Given the description of an element on the screen output the (x, y) to click on. 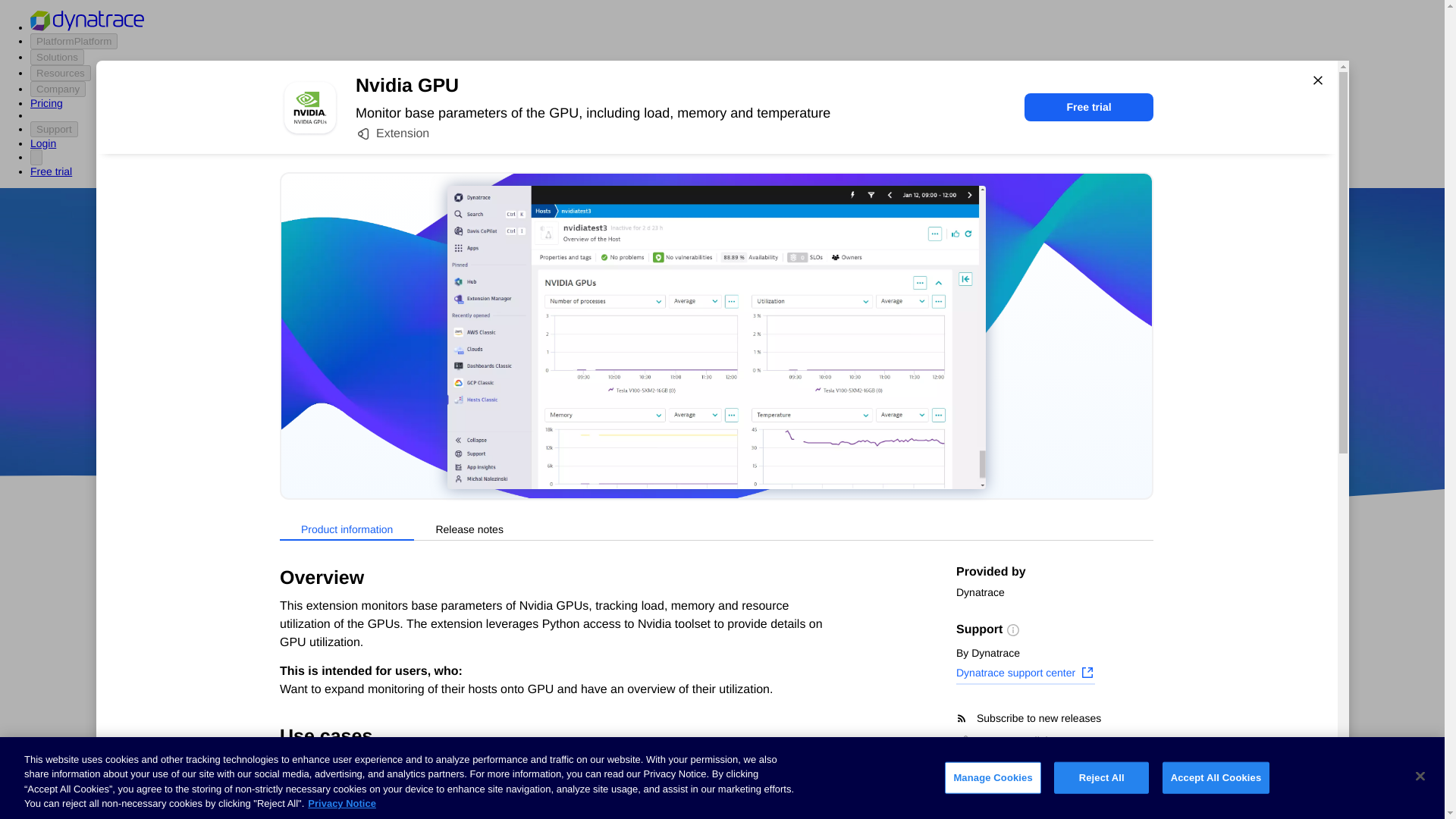
Copy page link (1003, 740)
Wipro (840, 375)
Hub home (291, 583)
Dynatrace support center (1025, 674)
Kubernetes (295, 755)
Google Cloud (751, 418)
WIPRO Holmes (606, 723)
Free trial (1089, 107)
 Envoy Istio Kubernetes Service Mesh (841, 778)
Certified Partners (309, 612)
 artificial-intelligence machine-learning (607, 778)
Istio Service Mesh (842, 723)
Wipro (840, 375)
Open source (903, 418)
Infrastructure Observability (335, 809)
